Given the description of an element on the screen output the (x, y) to click on. 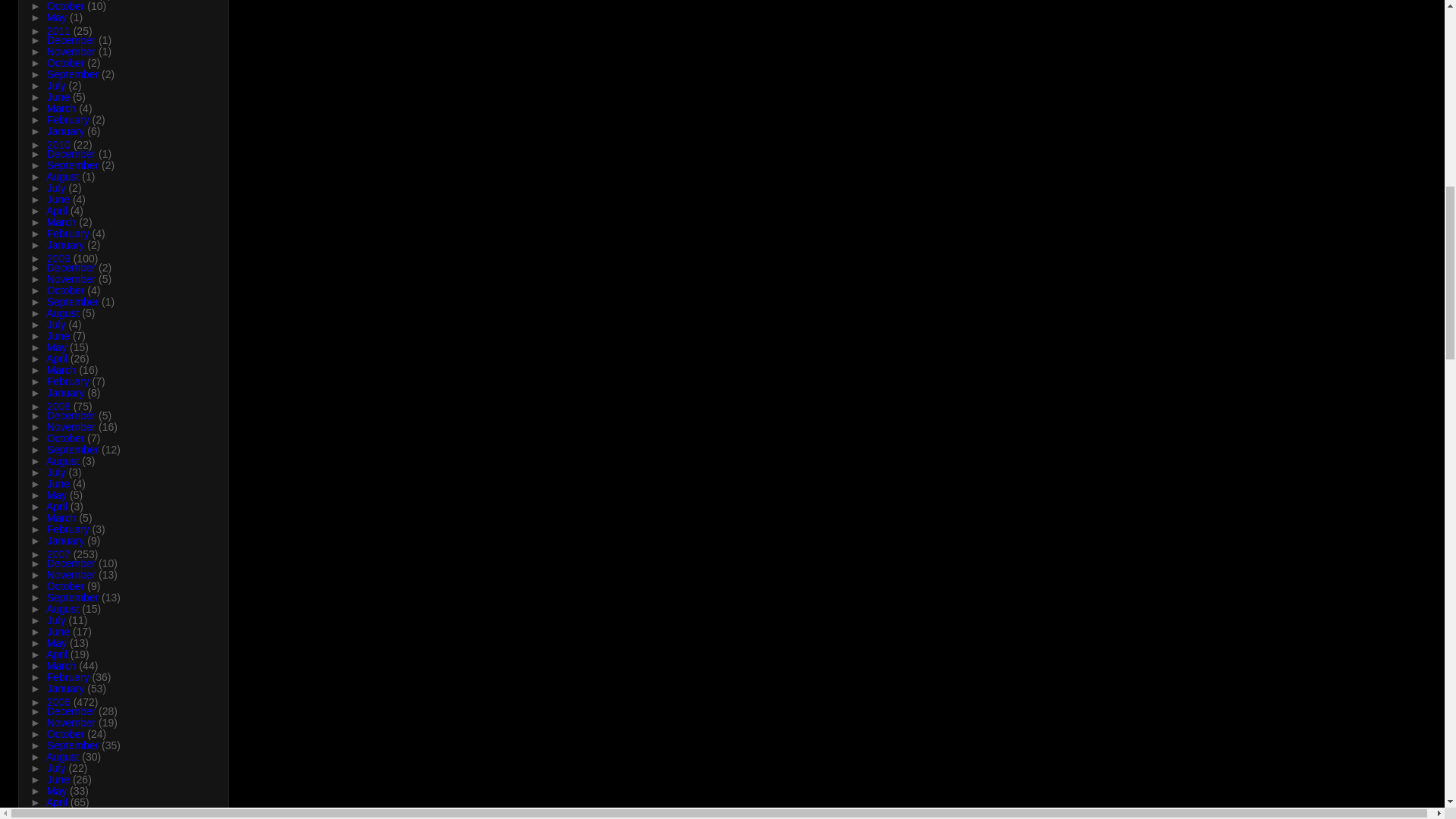
2011 (60, 30)
November (72, 0)
October (66, 6)
December (72, 39)
May (57, 17)
